Given the description of an element on the screen output the (x, y) to click on. 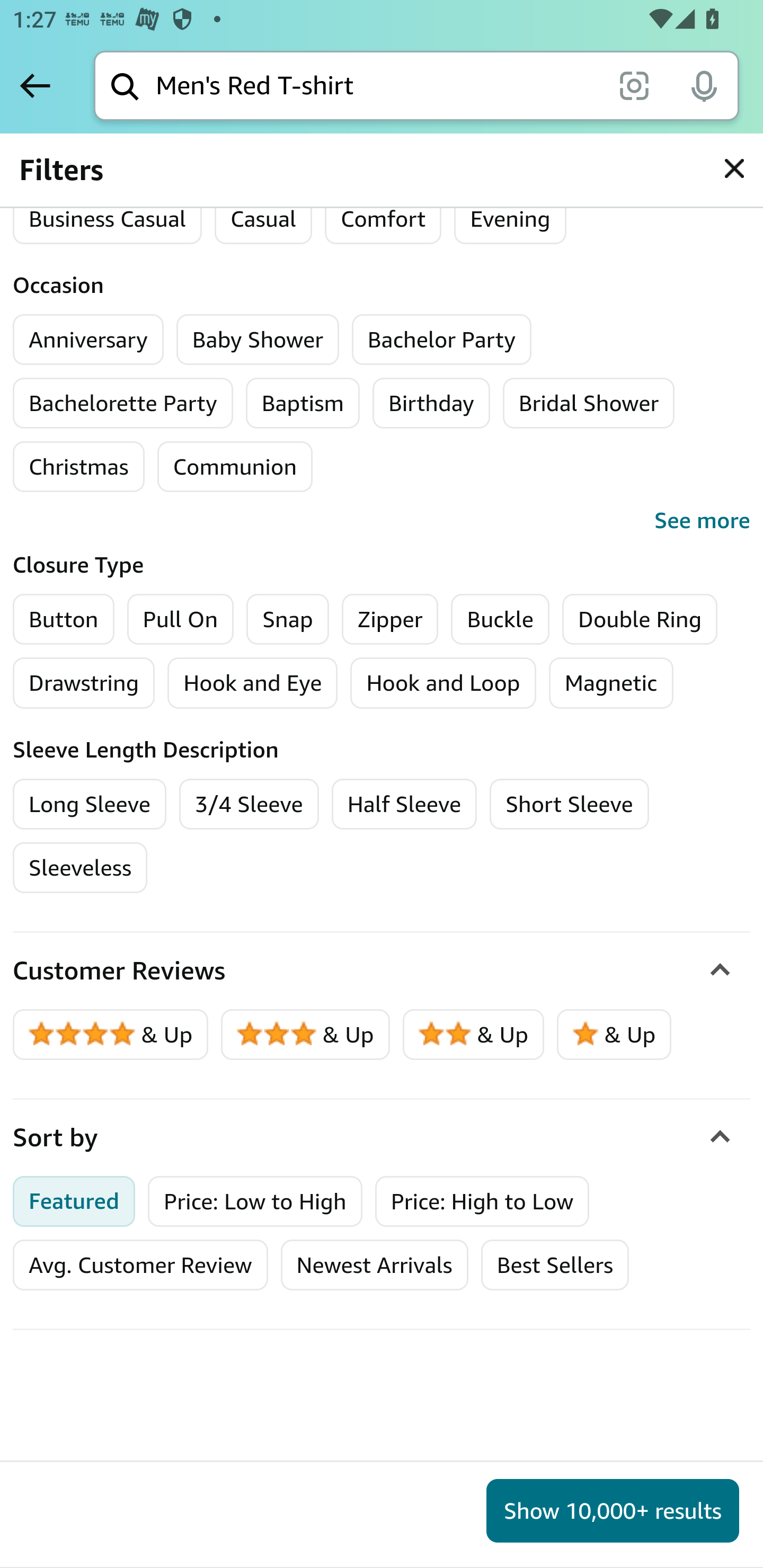
Back (35, 85)
scan it (633, 85)
Business Casual (107, 218)
Casual (262, 218)
Comfort (382, 218)
Evening (510, 218)
Anniversary (88, 339)
Baby Shower (257, 339)
Bachelor Party (441, 339)
Bachelorette Party (122, 402)
Baptism (302, 402)
Birthday (431, 402)
Bridal Shower (588, 402)
Christmas (78, 466)
Communion (233, 466)
See more, Occasion See more (381, 520)
Button (63, 618)
Pull On (180, 618)
Snap (287, 618)
Zipper (389, 618)
Buckle (500, 618)
Double Ring (639, 618)
Drawstring (83, 682)
Hook and Eye (252, 682)
Hook and Loop (443, 682)
Magnetic (610, 682)
Long Sleeve (89, 803)
3/4 Sleeve (248, 803)
Half Sleeve (404, 803)
Short Sleeve (569, 803)
Sleeveless (80, 867)
Customer Reviews (381, 971)
4 Stars & Up (110, 1035)
3 Stars & Up (305, 1035)
2 Stars & Up (473, 1035)
1 Star & Up (614, 1035)
Sort by (381, 1138)
Price: Low to High (255, 1201)
Price: High to Low (481, 1201)
Avg. Customer Review (140, 1266)
Newest Arrivals (374, 1266)
Best Sellers (554, 1266)
Show 10,000+ results (612, 1510)
